Given the description of an element on the screen output the (x, y) to click on. 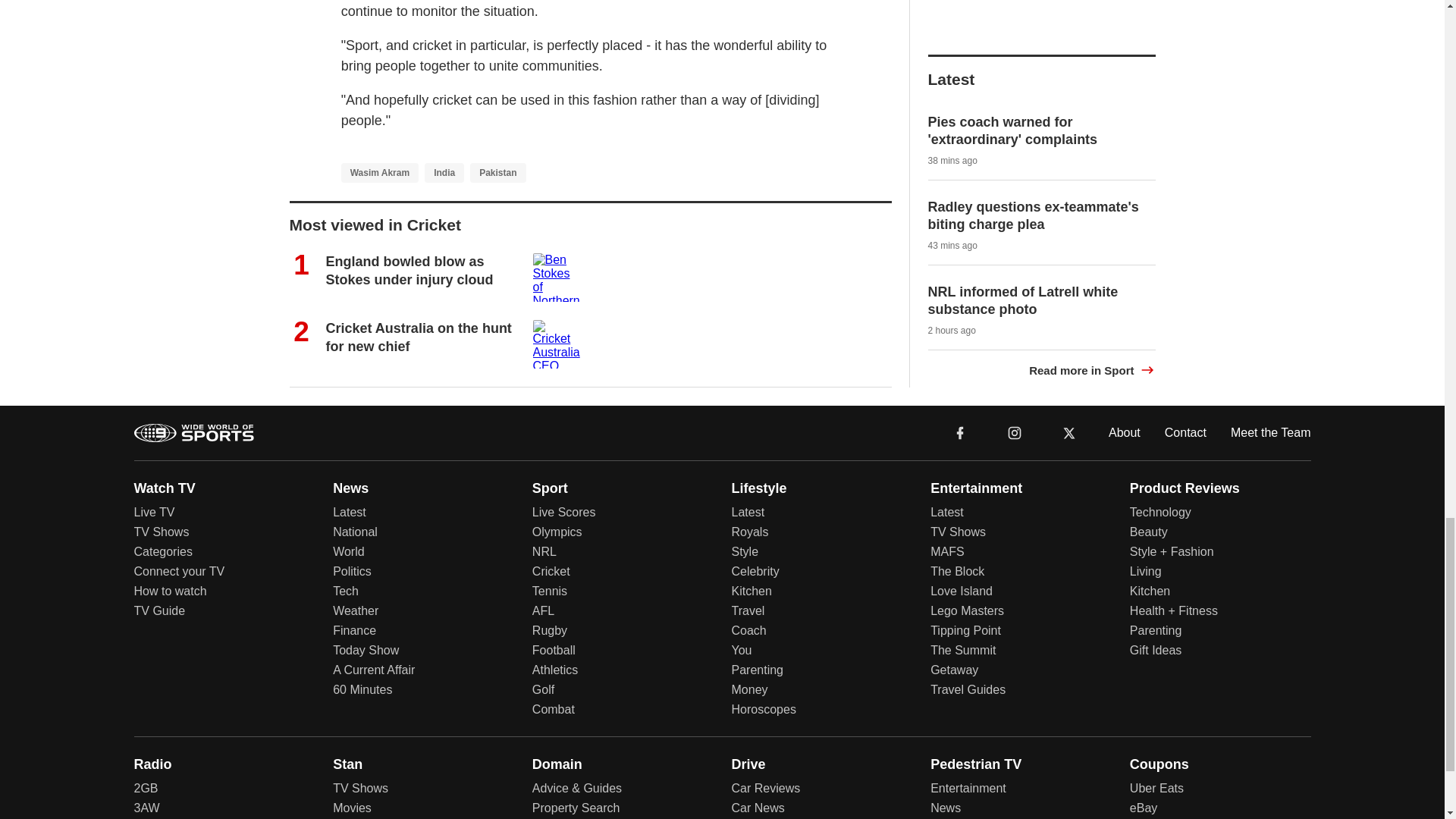
England bowled blow as Stokes under injury cloud (409, 269)
Cricket Australia on the hunt for new chief (419, 336)
facebook (959, 431)
facebook (959, 431)
facebook (960, 432)
x (1069, 432)
Wasim Akram (379, 172)
x (1069, 431)
Pakistan (497, 172)
instagram (1014, 432)
